Given the description of an element on the screen output the (x, y) to click on. 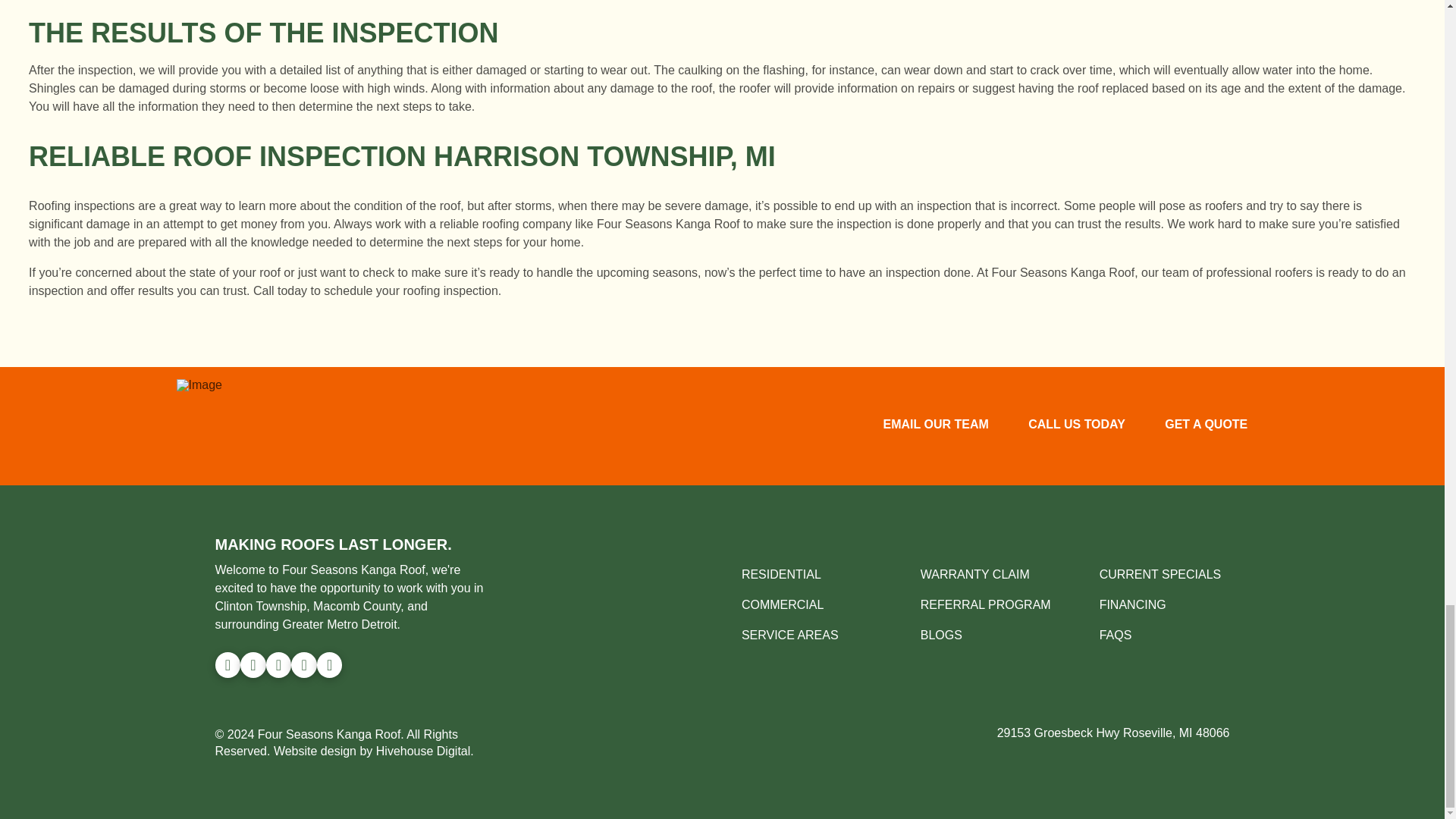
EMAIL OUR TEAM (935, 425)
SERVICE AREAS (789, 634)
CALL US TODAY (1076, 425)
RESIDENTIAL (781, 574)
Website design by Hivehouse Digital. (373, 750)
FAQS (1115, 634)
REFERRAL PROGRAM (985, 604)
CURRENT SPECIALS (1160, 574)
BLOGS (941, 634)
WARRANTY CLAIM (974, 574)
